Given the description of an element on the screen output the (x, y) to click on. 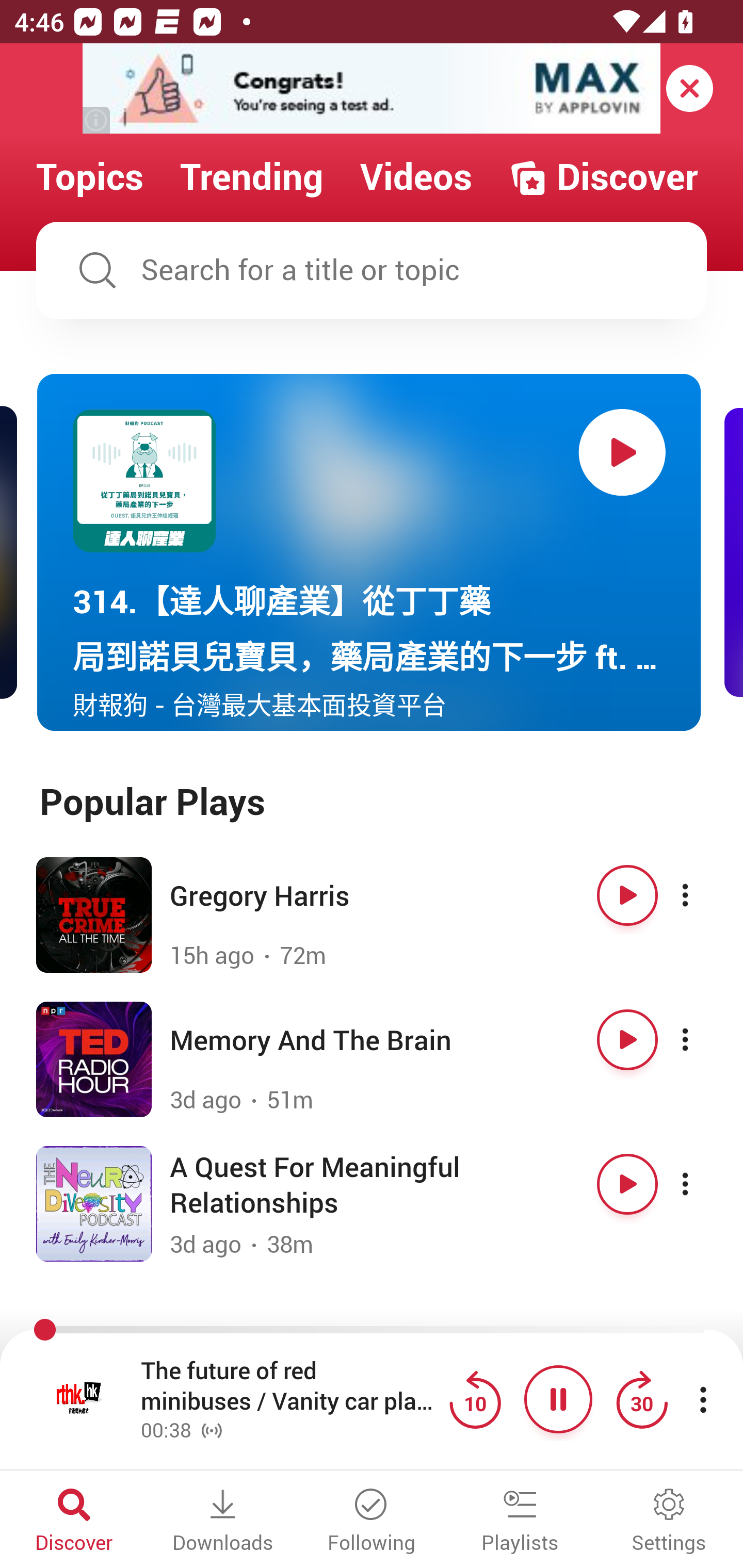
app-monetization (371, 88)
(i) (96, 119)
Topics (90, 177)
Trending (251, 177)
Videos (415, 177)
Discover (603, 177)
Search for a title or topic (371, 270)
Play button (621, 452)
Play button (627, 895)
More options (703, 895)
Play button (627, 1039)
More options (703, 1039)
Play button (627, 1184)
More options (703, 1184)
Recommended for You (371, 1331)
Open fullscreen player (79, 1399)
More player controls (703, 1399)
Pause button (558, 1398)
Jump back (475, 1399)
Jump forward (641, 1399)
Discover (74, 1521)
Downloads (222, 1521)
Following (371, 1521)
Playlists (519, 1521)
Settings (668, 1521)
